Given the description of an element on the screen output the (x, y) to click on. 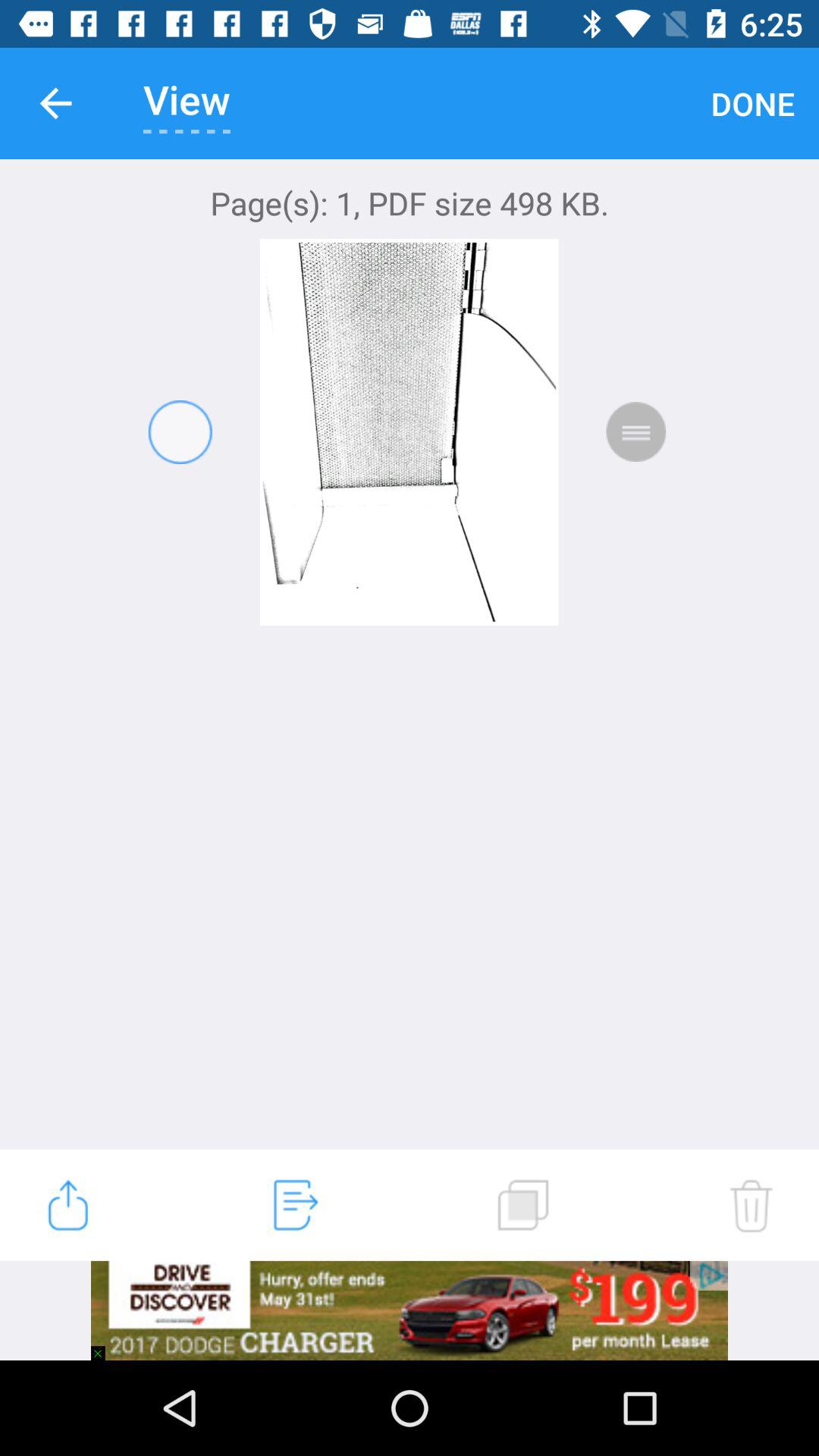
open the done (753, 103)
